Given the description of an element on the screen output the (x, y) to click on. 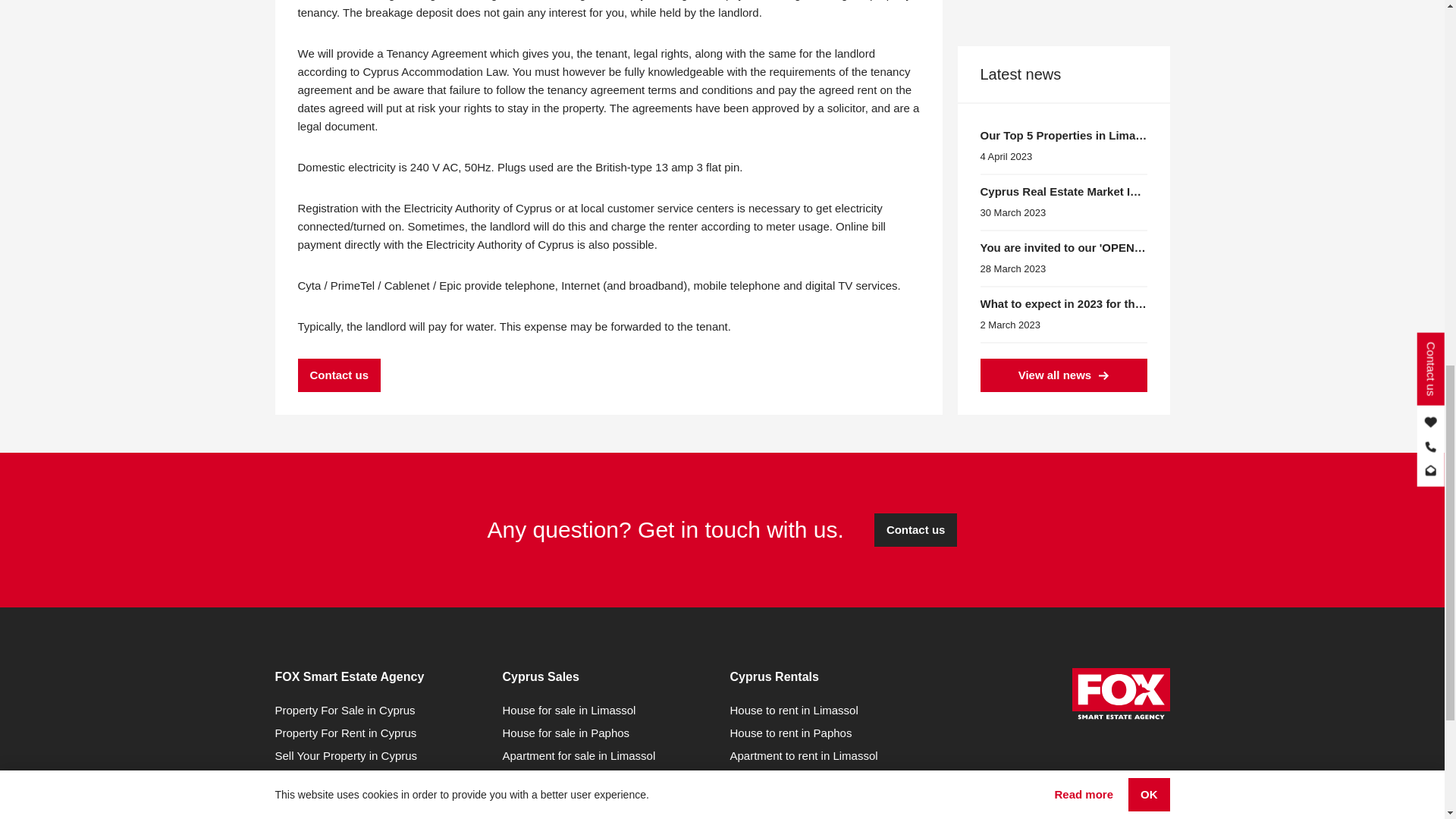
Contact us (338, 375)
